Given the description of an element on the screen output the (x, y) to click on. 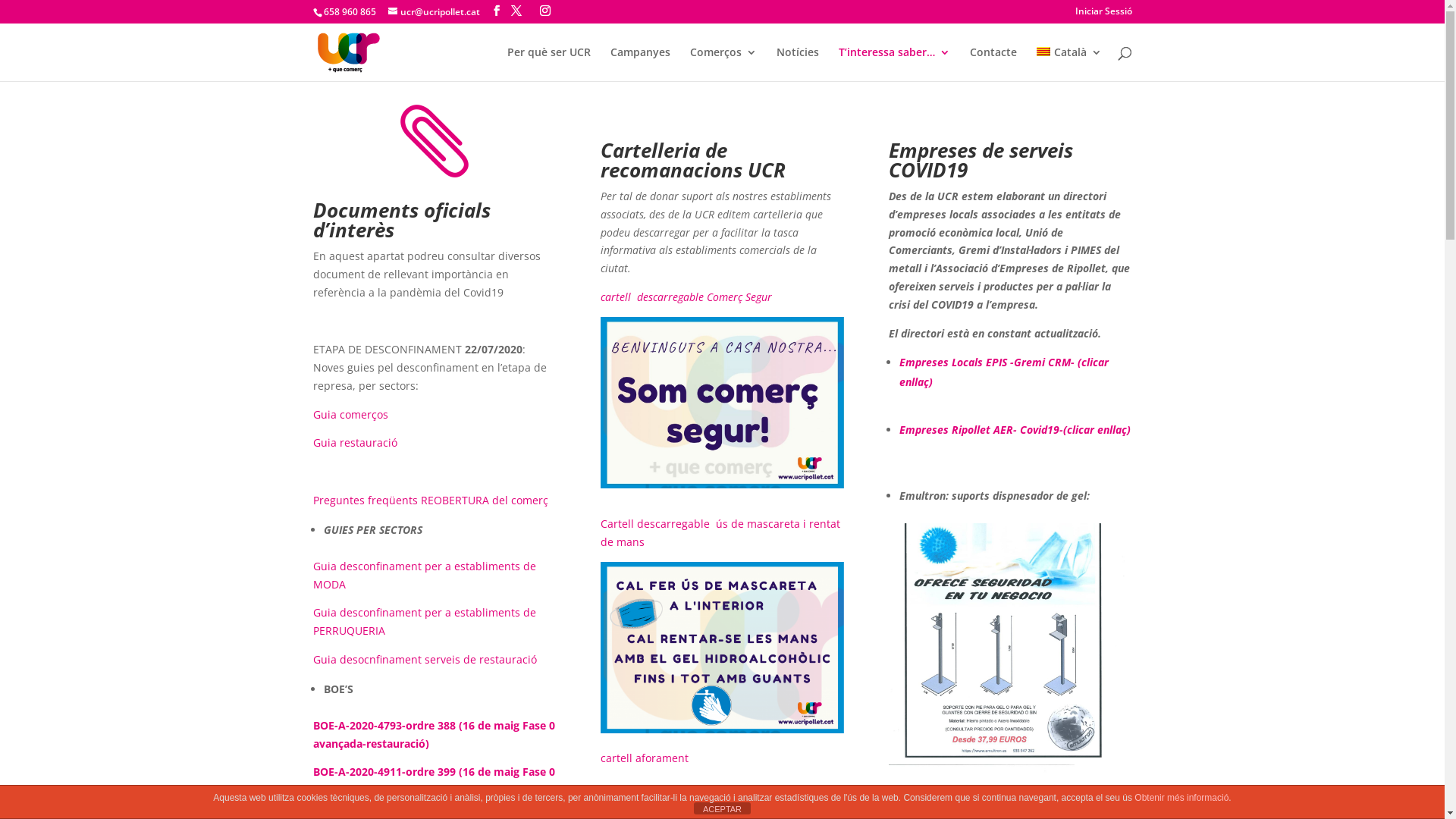
Campanyes Element type: text (640, 64)
ACEPTAR Element type: text (721, 808)
Contacte Element type: text (992, 64)
Guia desconfinament per a establiments de PERRUQUERIA Element type: text (423, 621)
ucr@ucripollet.cat Element type: text (434, 11)
Guia desconfinament per a establiments de MODA Element type: text (423, 574)
cartell aforament Element type: text (644, 757)
